Given the description of an element on the screen output the (x, y) to click on. 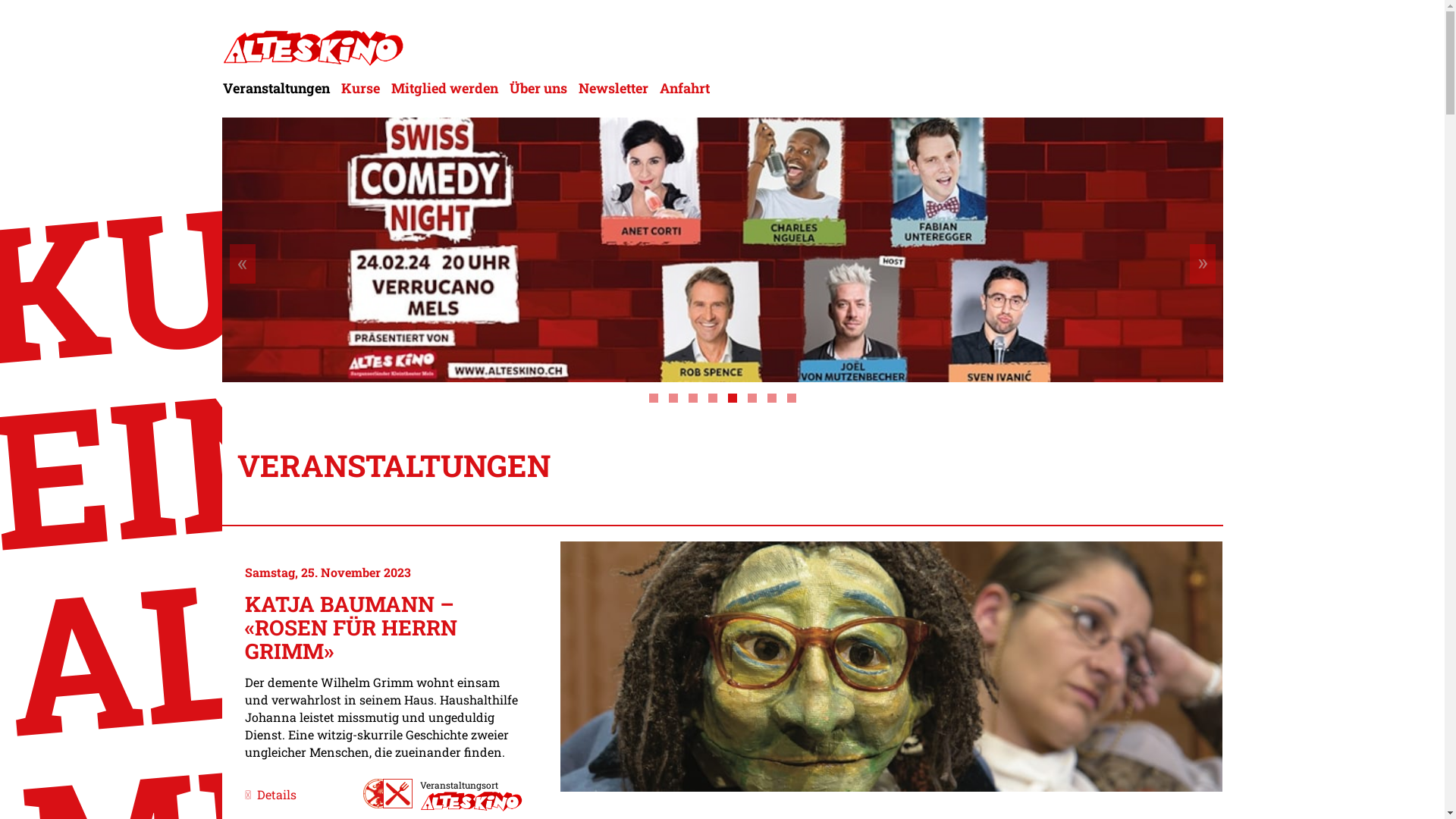
Anfahrt Element type: text (683, 87)
Newsletter Element type: text (613, 87)
Veranstaltungen Element type: text (277, 87)
Altes Kino Mels Element type: hover (312, 44)
Mitglied werden Element type: text (443, 87)
Kunst und Kultur Spezialticket Element type: hover (387, 793)
Kurse Element type: text (359, 87)
